Given the description of an element on the screen output the (x, y) to click on. 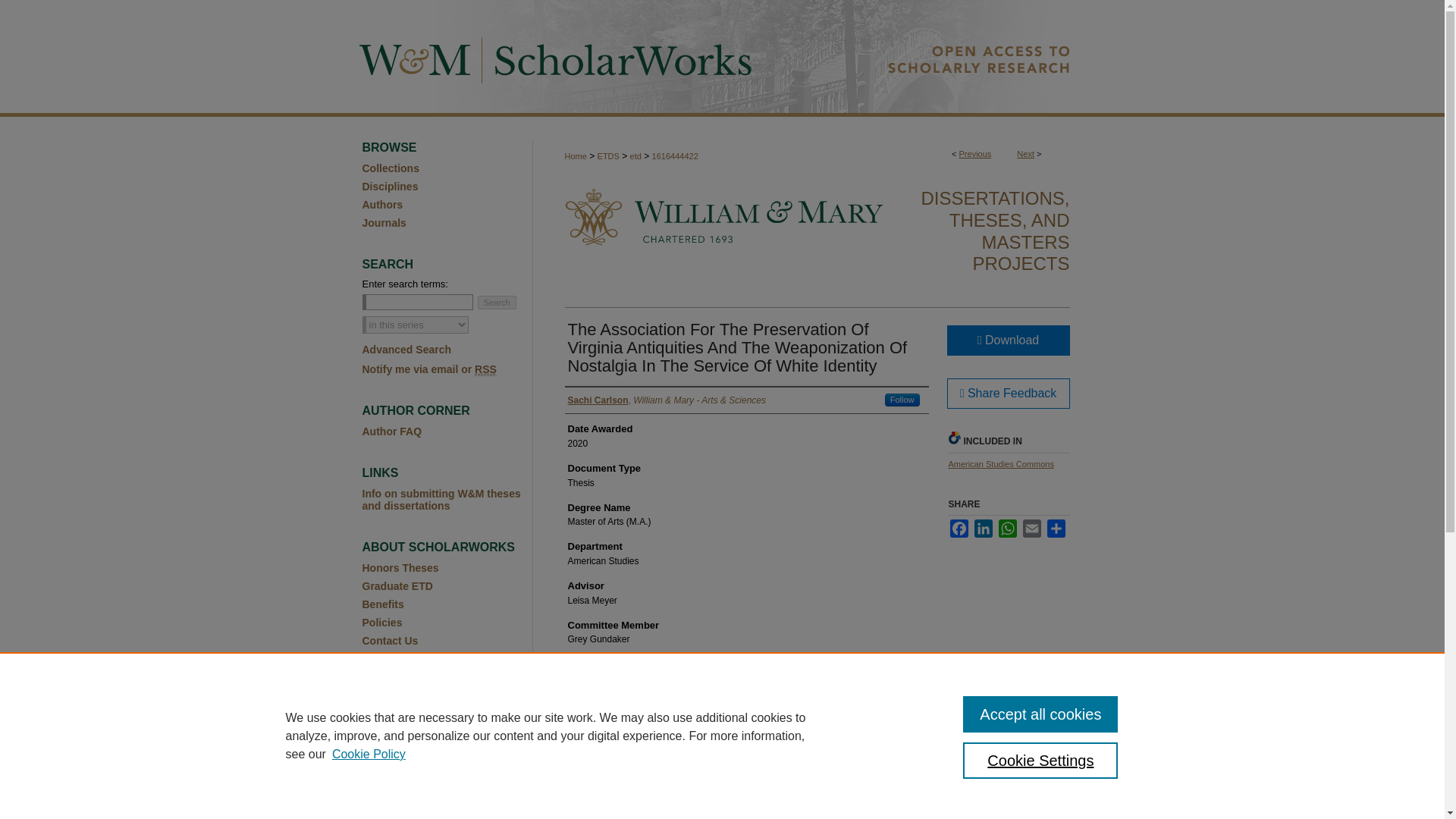
Journals (447, 223)
etd (636, 155)
Follow Sachi Carlson (902, 399)
Search (496, 302)
Notify me via email or RSS (447, 369)
American Studies Commons (999, 463)
Browse by Collections (447, 168)
DISSERTATIONS, THESES, AND MASTERS PROJECTS (994, 230)
Browse by Author (447, 204)
Share Feedback (1007, 393)
Authors (447, 204)
Advanced Search (406, 349)
WhatsApp (1006, 528)
Email (1031, 528)
